Given the description of an element on the screen output the (x, y) to click on. 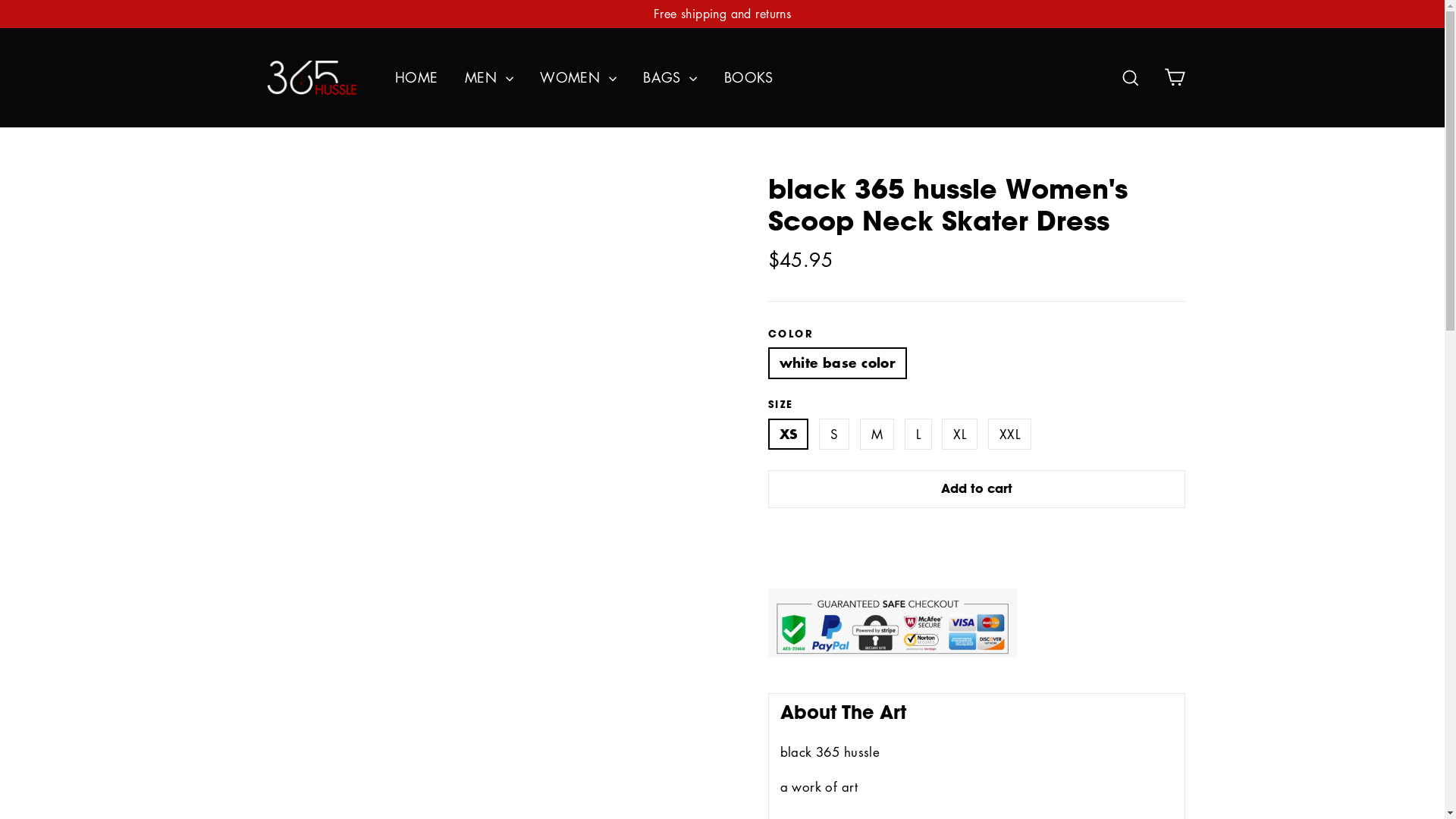
Add to cart Element type: text (975, 489)
Skip to content Element type: text (0, 0)
BAGS Element type: text (669, 77)
MEN Element type: text (488, 77)
HOME Element type: text (416, 77)
WOMEN Element type: text (577, 77)
BOOKS Element type: text (748, 77)
